Given the description of an element on the screen output the (x, y) to click on. 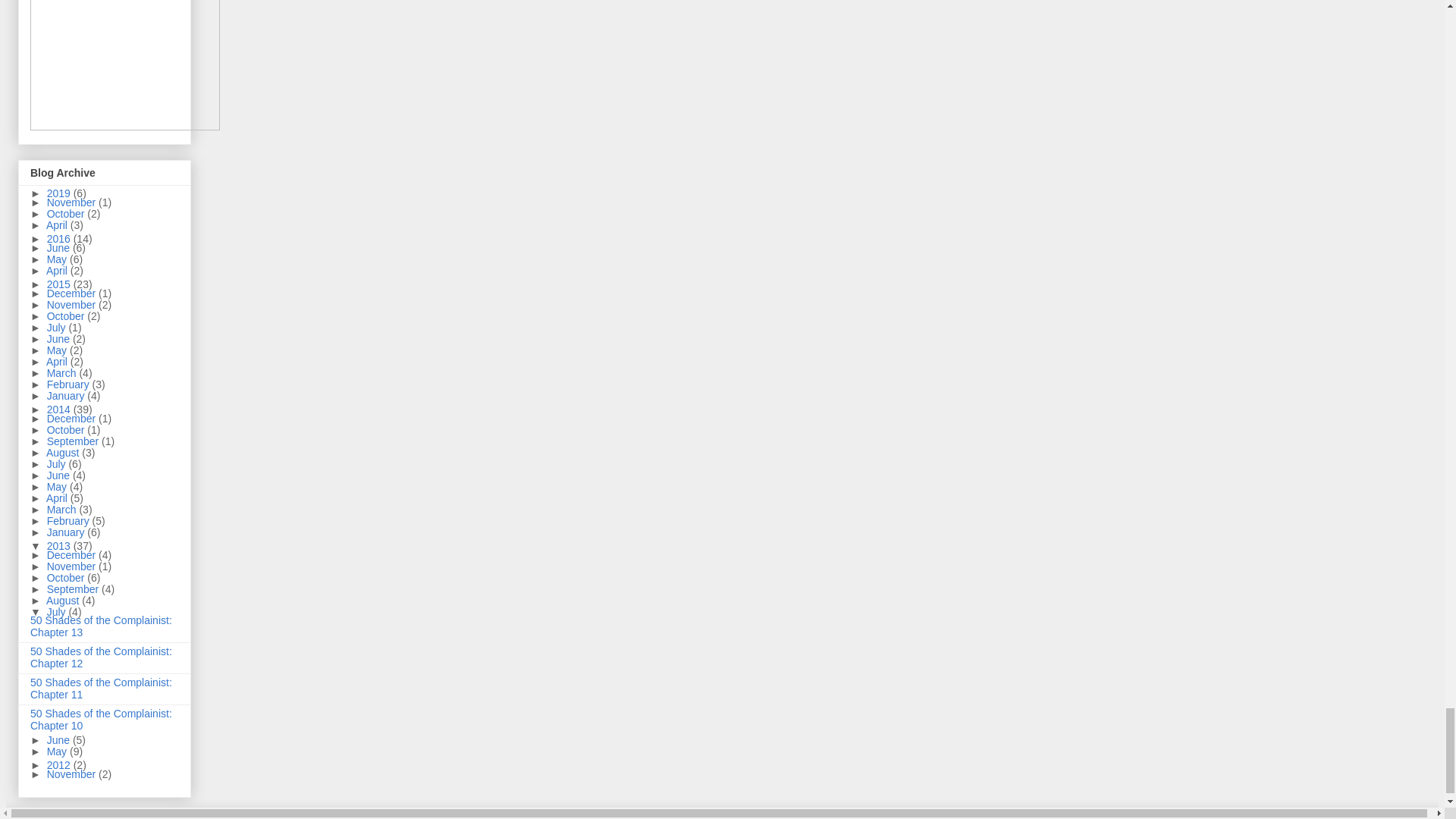
June (59, 247)
May (57, 259)
2019 (60, 193)
April (57, 224)
November (72, 202)
2016 (60, 238)
April (57, 270)
October (66, 214)
